Given the description of an element on the screen output the (x, y) to click on. 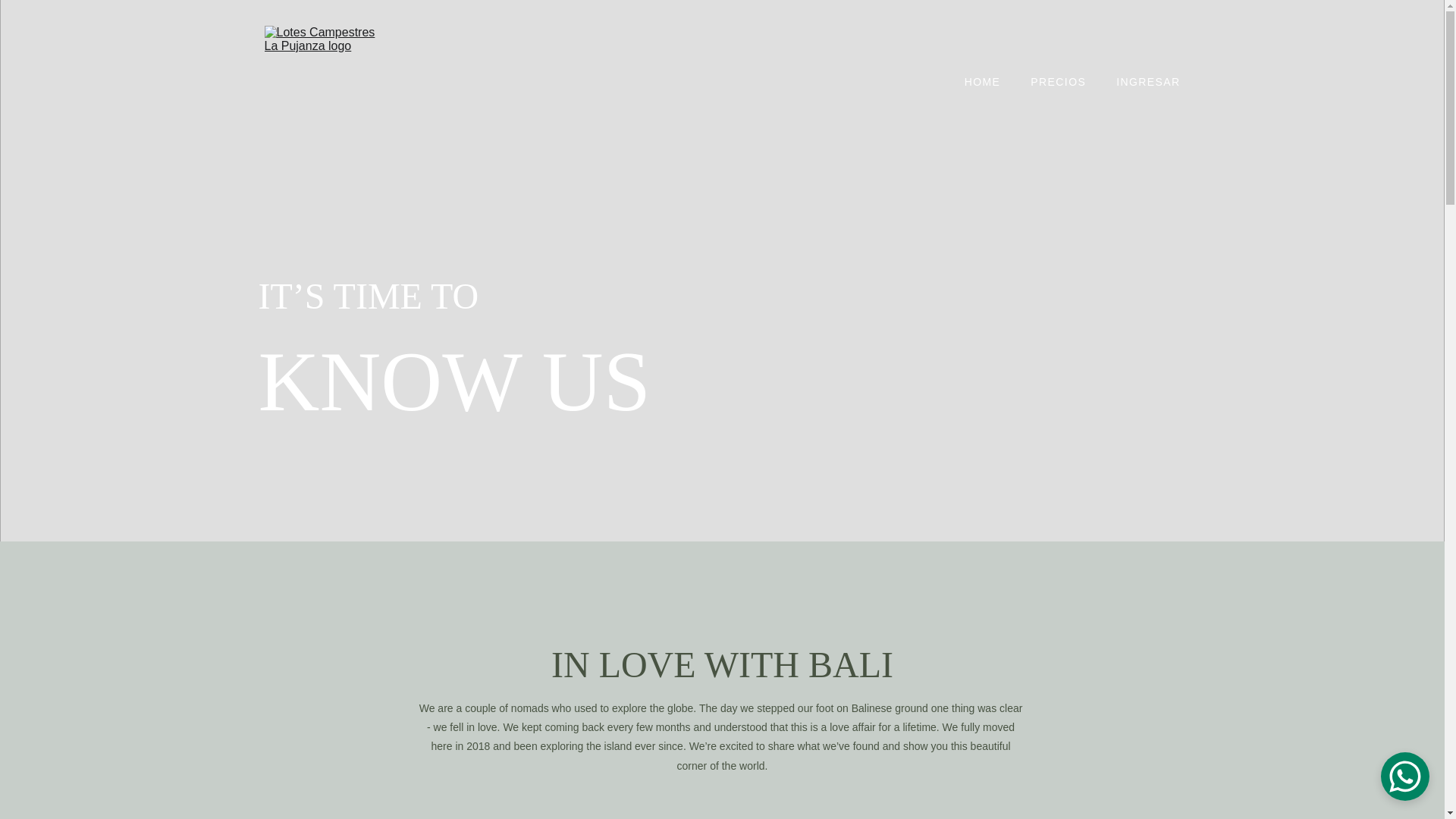
Open WhatsApp (1404, 776)
INGRESAR (1147, 81)
PRECIOS (1058, 81)
HOME (982, 81)
